Given the description of an element on the screen output the (x, y) to click on. 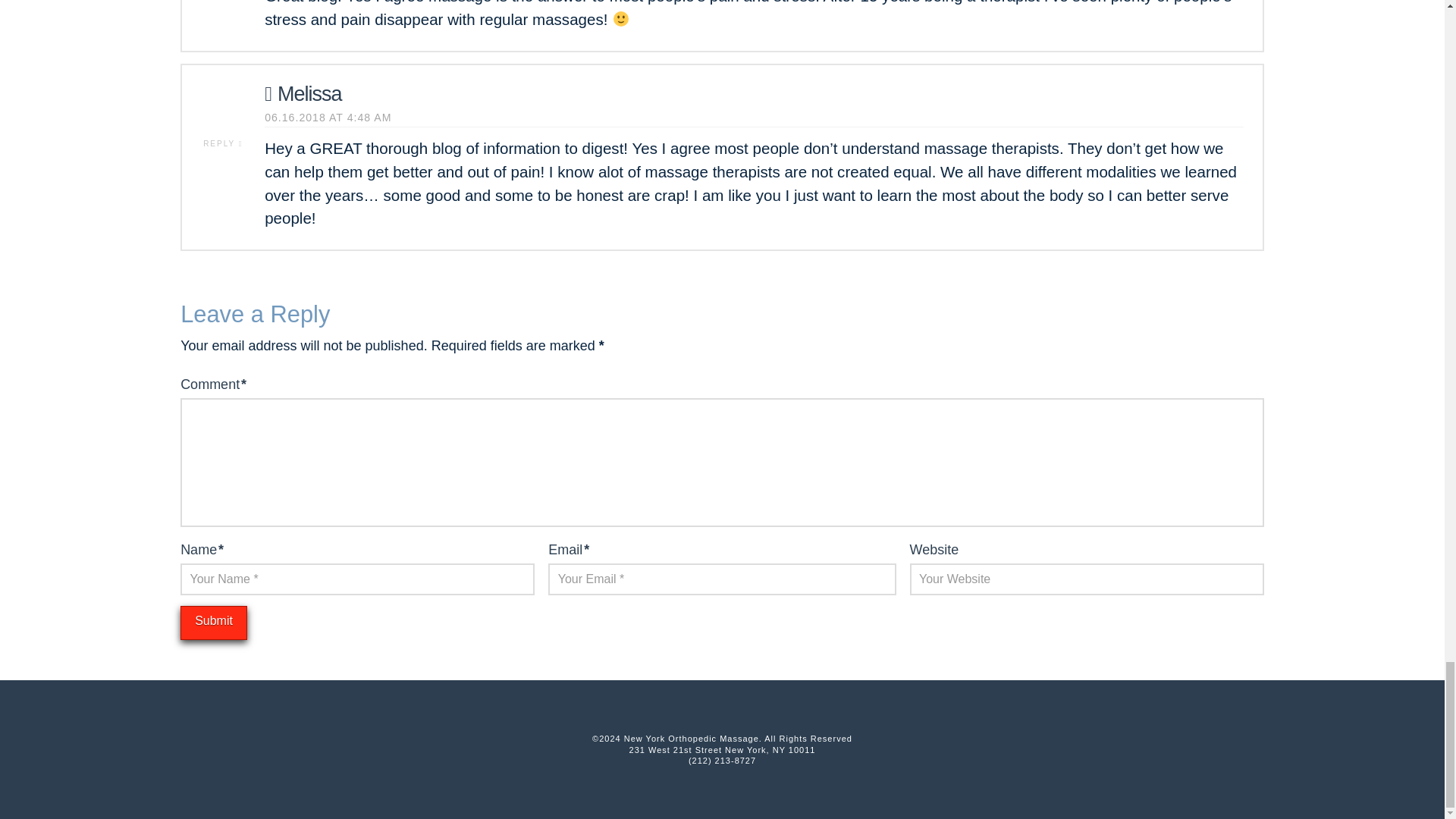
Melissa (302, 93)
06.16.2018 AT 4:48 AM (327, 117)
REPLY (223, 143)
Submit (213, 622)
Submit (213, 622)
231 West 21st Street New York, NY 10011 (721, 749)
